Given the description of an element on the screen output the (x, y) to click on. 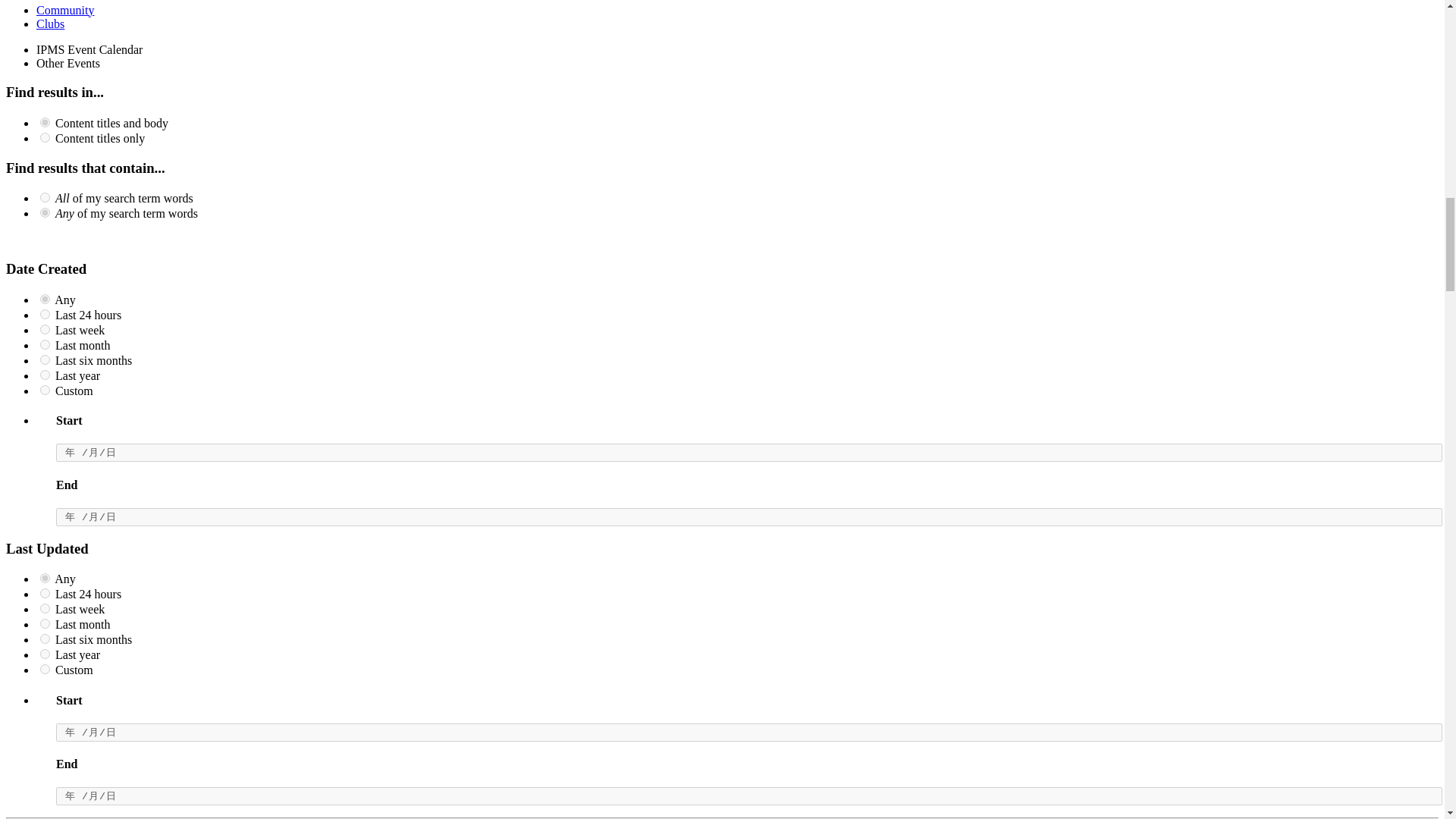
all (44, 122)
any (44, 298)
titles (44, 137)
month (44, 344)
week (44, 329)
or (44, 212)
and (44, 197)
day (44, 314)
